Given the description of an element on the screen output the (x, y) to click on. 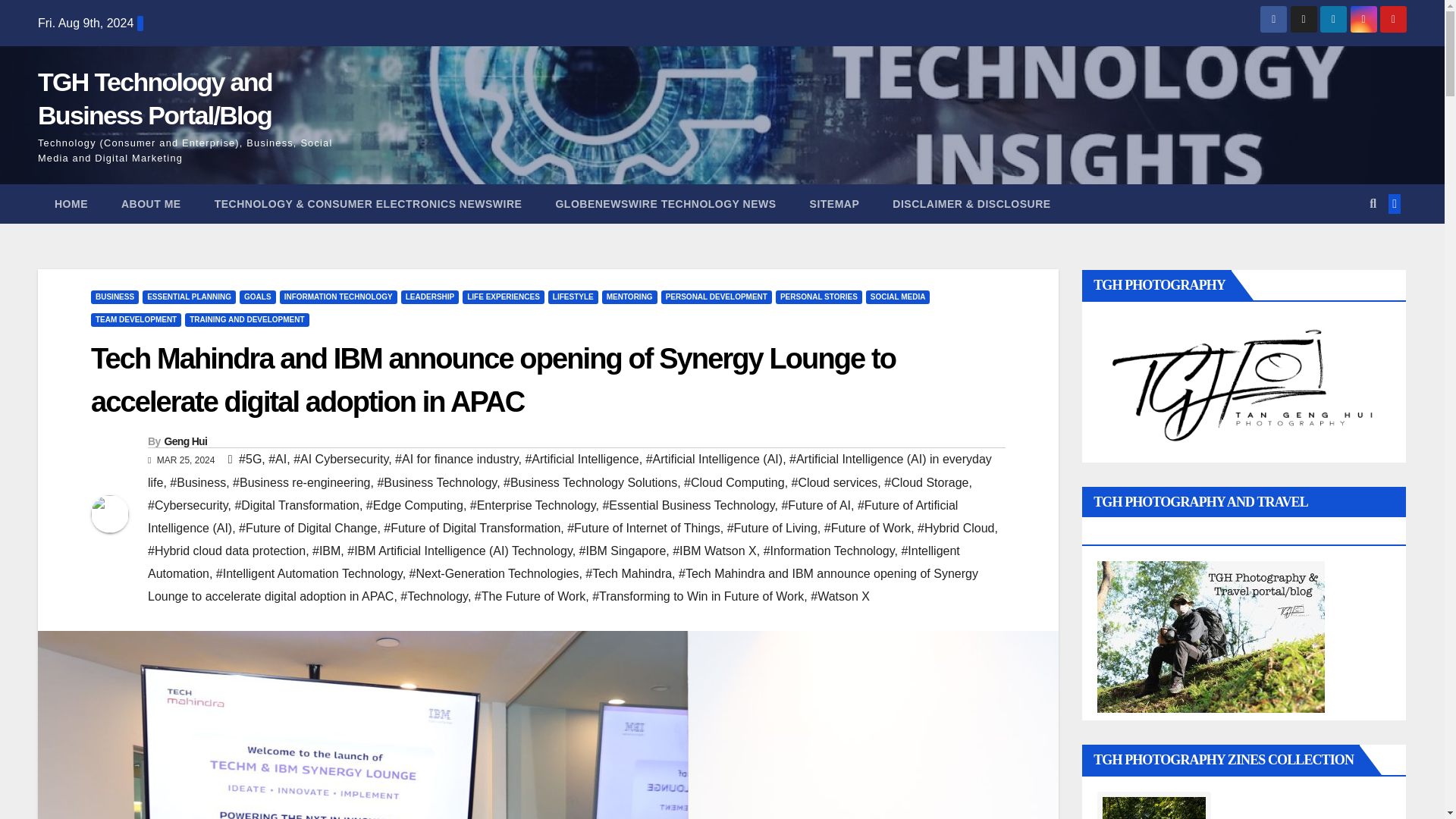
TRAINING AND DEVELOPMENT (246, 319)
MENTORING (630, 296)
BUSINESS (114, 296)
GLOBENEWSWIRE TECHNOLOGY NEWS (665, 203)
INFORMATION TECHNOLOGY (338, 296)
PERSONAL DEVELOPMENT (716, 296)
ABOUT ME (151, 203)
PERSONAL STORIES (818, 296)
